Given the description of an element on the screen output the (x, y) to click on. 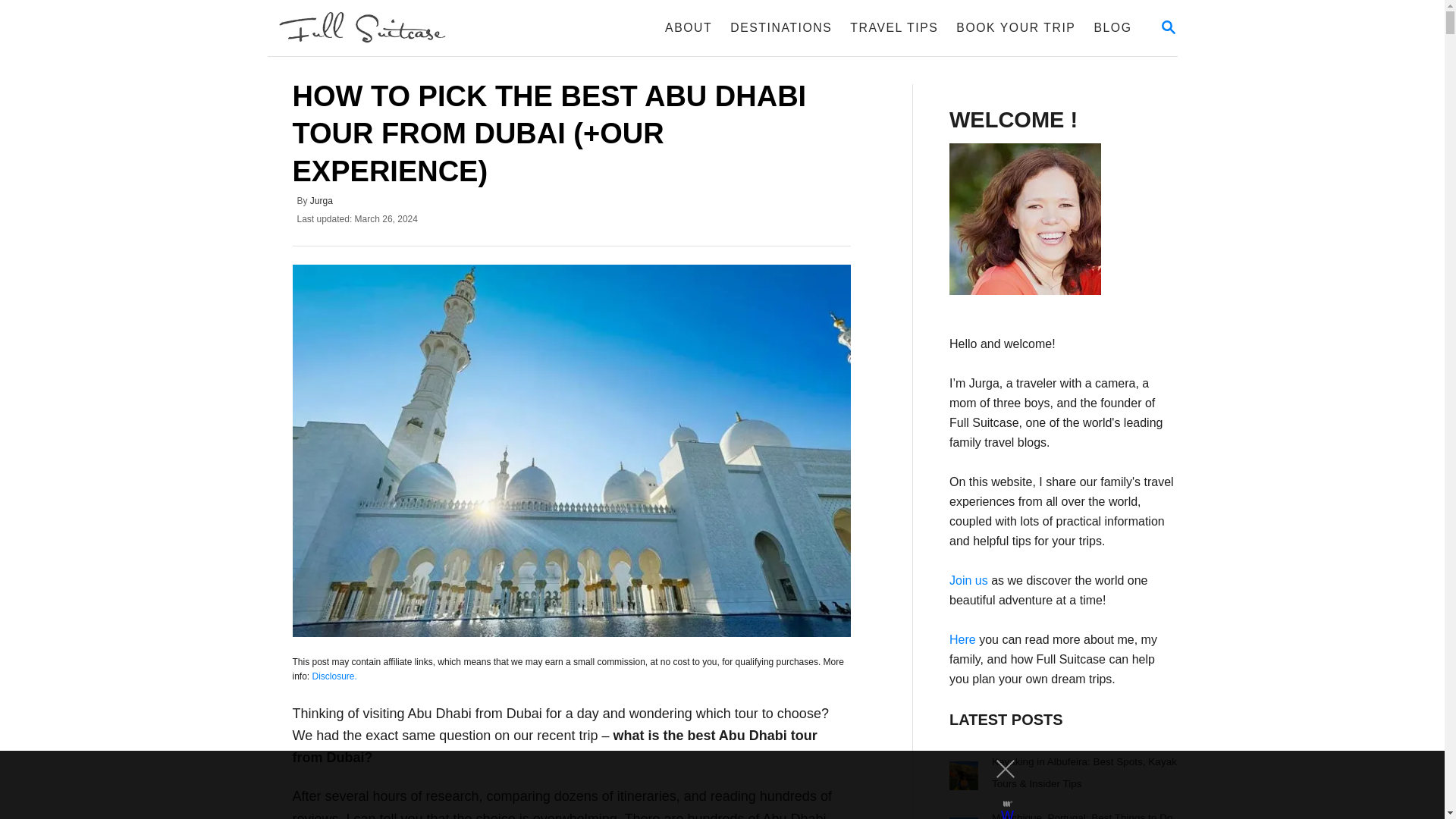
ABOUT (688, 28)
WELCOME ! (1168, 28)
Full Suitcase Travel Blog (1062, 218)
DESTINATIONS (420, 28)
3rd party ad content (780, 28)
MAGNIFYING GLASS (708, 785)
